Given the description of an element on the screen output the (x, y) to click on. 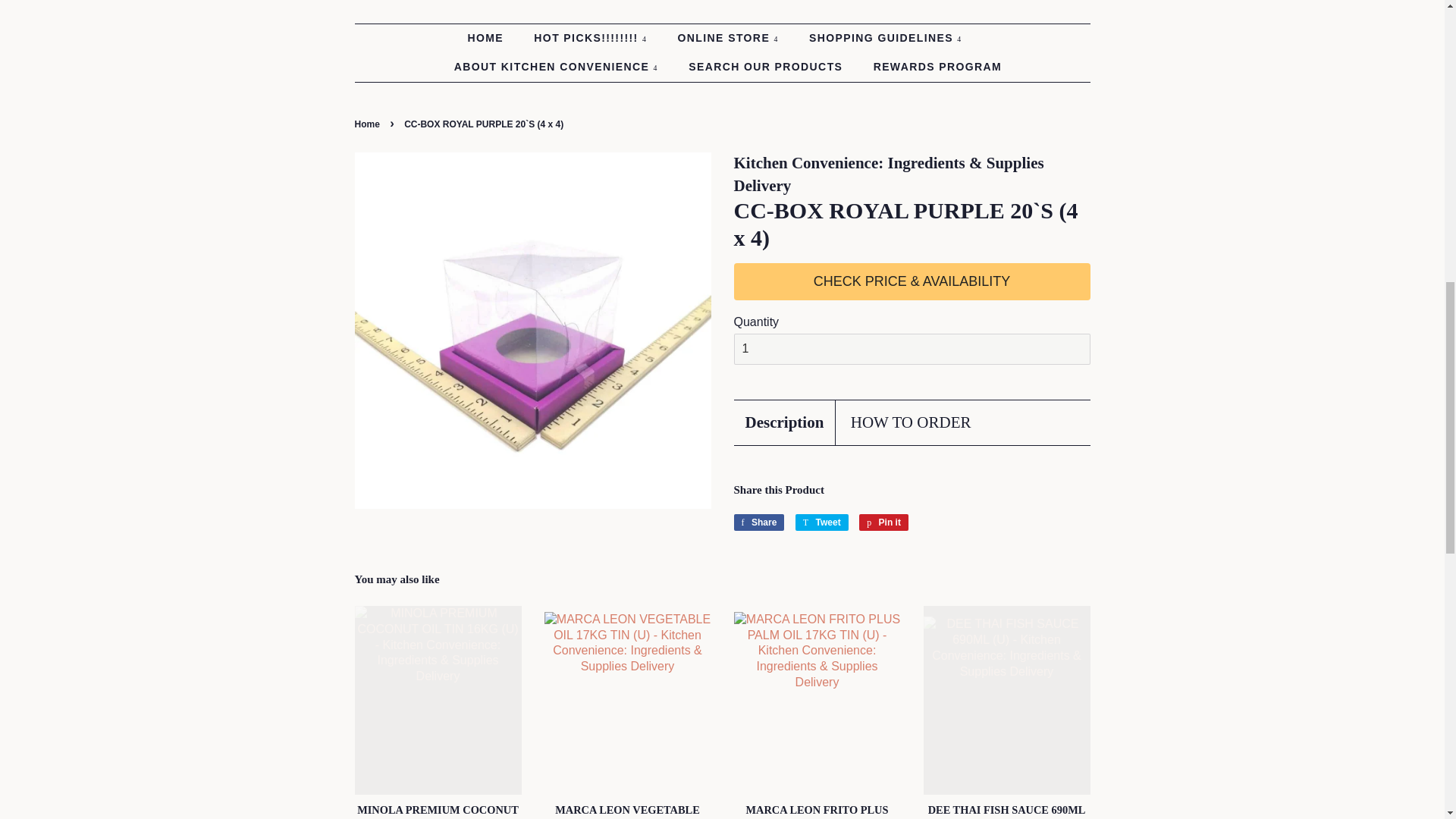
Share on Facebook (758, 522)
Back to the frontpage (369, 123)
Pin on Pinterest (883, 522)
Tweet on Twitter (821, 522)
1 (911, 348)
